Given the description of an element on the screen output the (x, y) to click on. 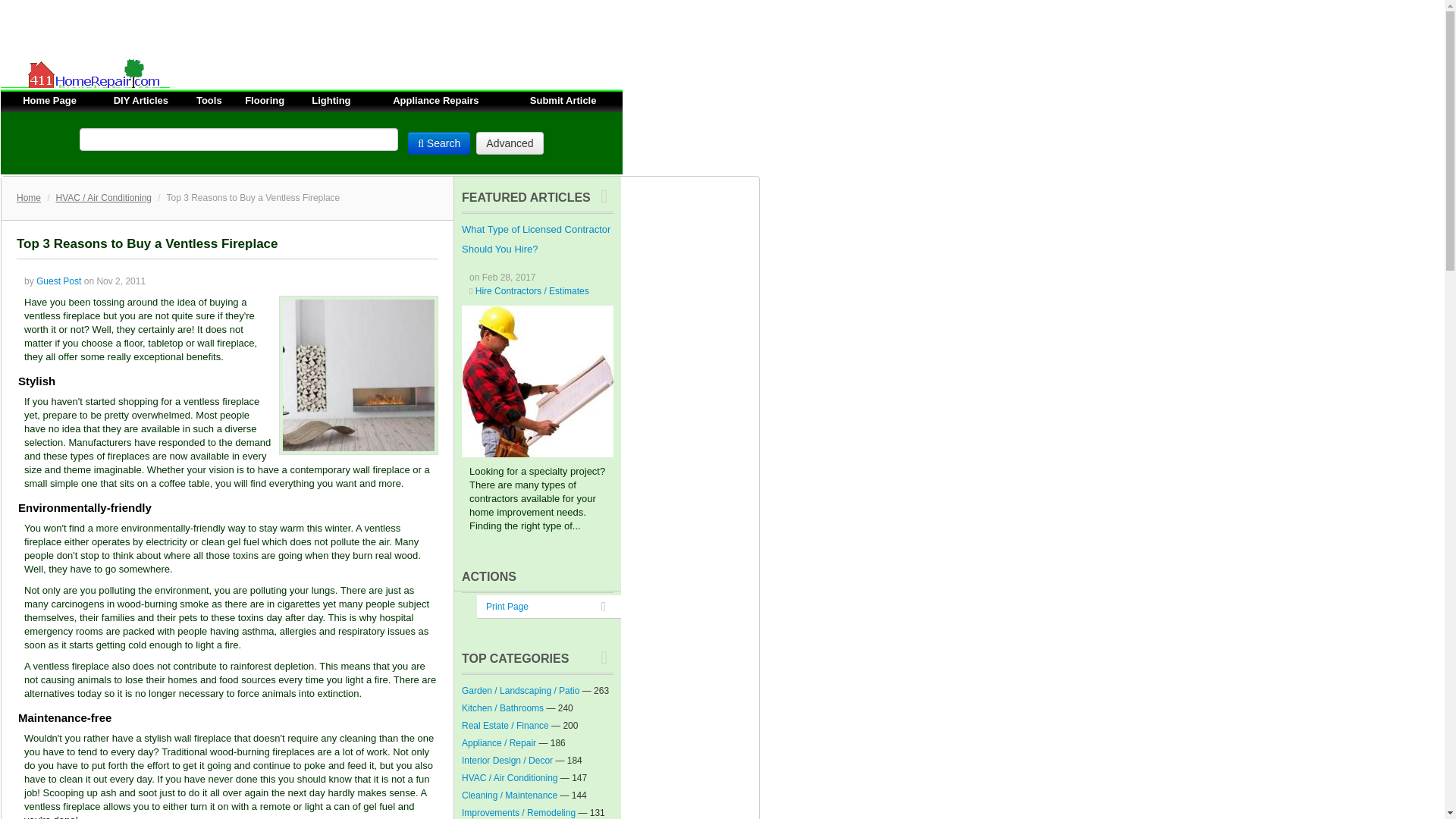
Appliance Repairs (436, 100)
Submit Article (562, 100)
Advanced (509, 142)
Advertisement (275, 34)
Tools (209, 100)
Home (28, 197)
Flooring (263, 100)
DIY Articles (140, 100)
What Type of Licensed Contractor Should You Hire? (536, 381)
Home Page (50, 100)
Search (438, 142)
Lighting (330, 100)
Guest Post (58, 281)
